Given the description of an element on the screen output the (x, y) to click on. 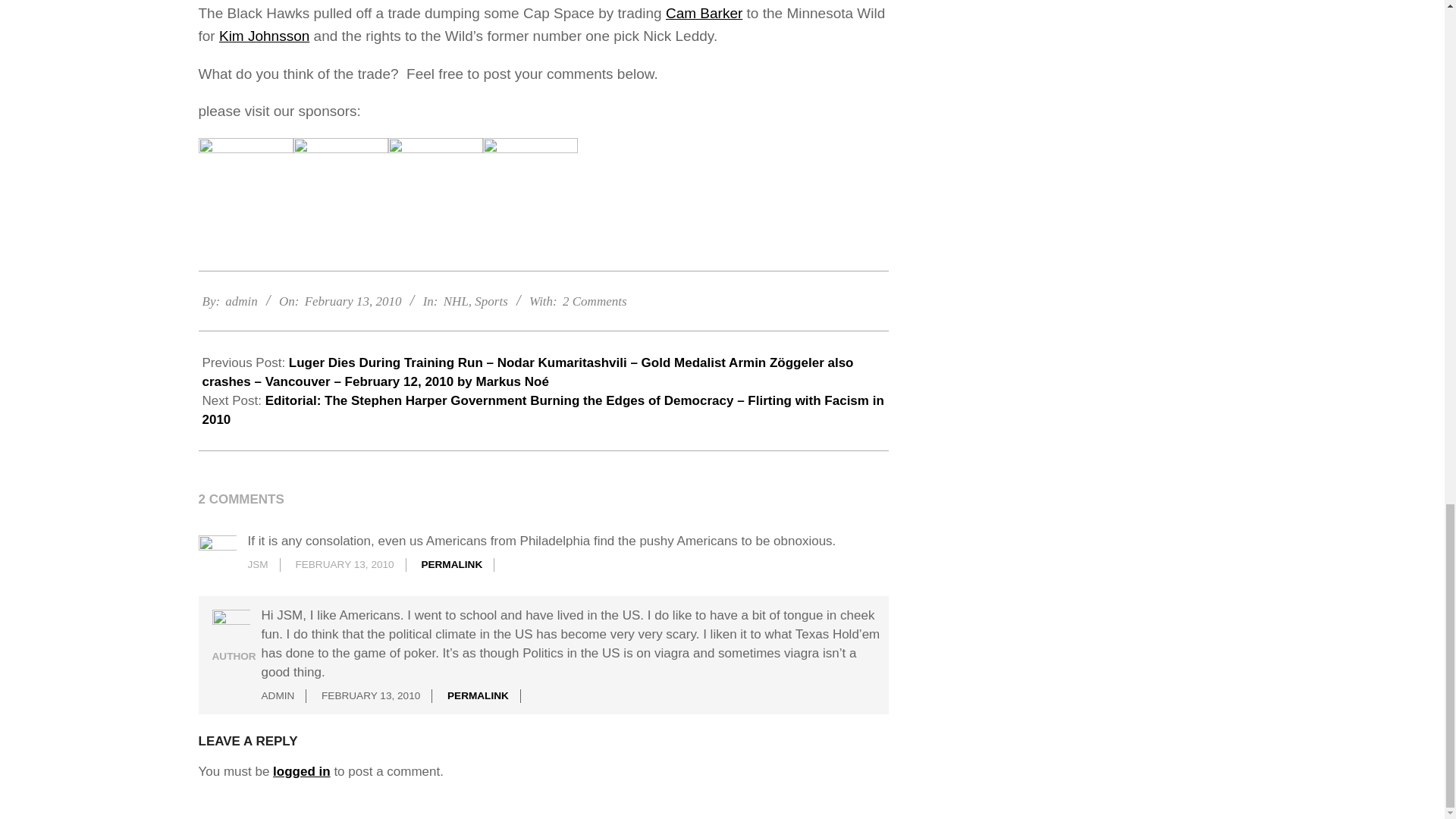
Posts by admin (241, 301)
Saturday, February 13, 2010, 8:34 am (370, 695)
Saturday, February 13, 2010, 8:11 am (344, 564)
Saturday, February 13, 2010, 6:38 am (352, 301)
